Given the description of an element on the screen output the (x, y) to click on. 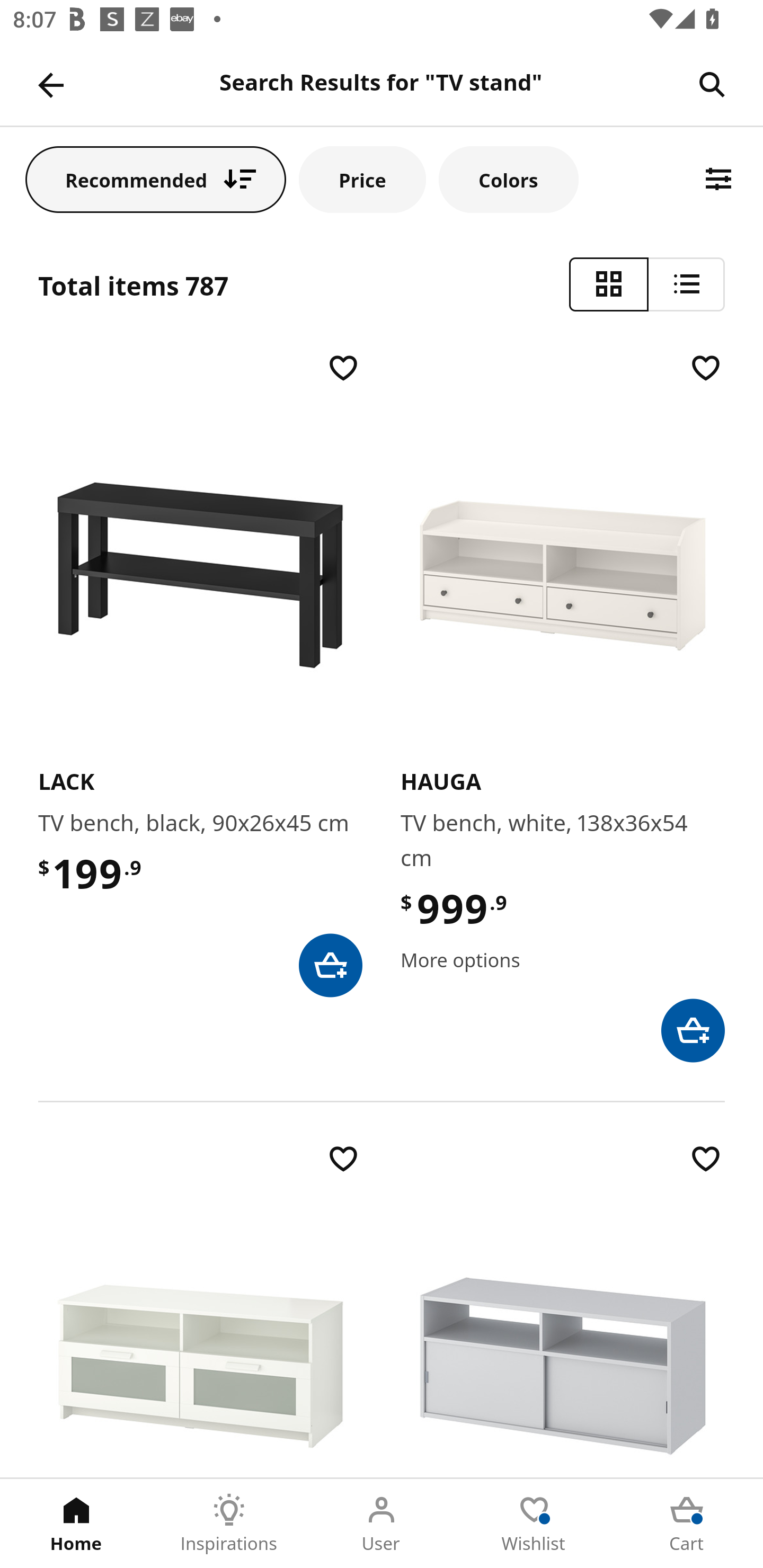
Recommended (155, 179)
Price (362, 179)
Colors (508, 179)
​L​A​C​K​
TV bench, black, 90x26x45 cm
$
199
.9 (200, 673)
Home
Tab 1 of 5 (76, 1522)
Inspirations
Tab 2 of 5 (228, 1522)
User
Tab 3 of 5 (381, 1522)
Wishlist
Tab 4 of 5 (533, 1522)
Cart
Tab 5 of 5 (686, 1522)
